Given the description of an element on the screen output the (x, y) to click on. 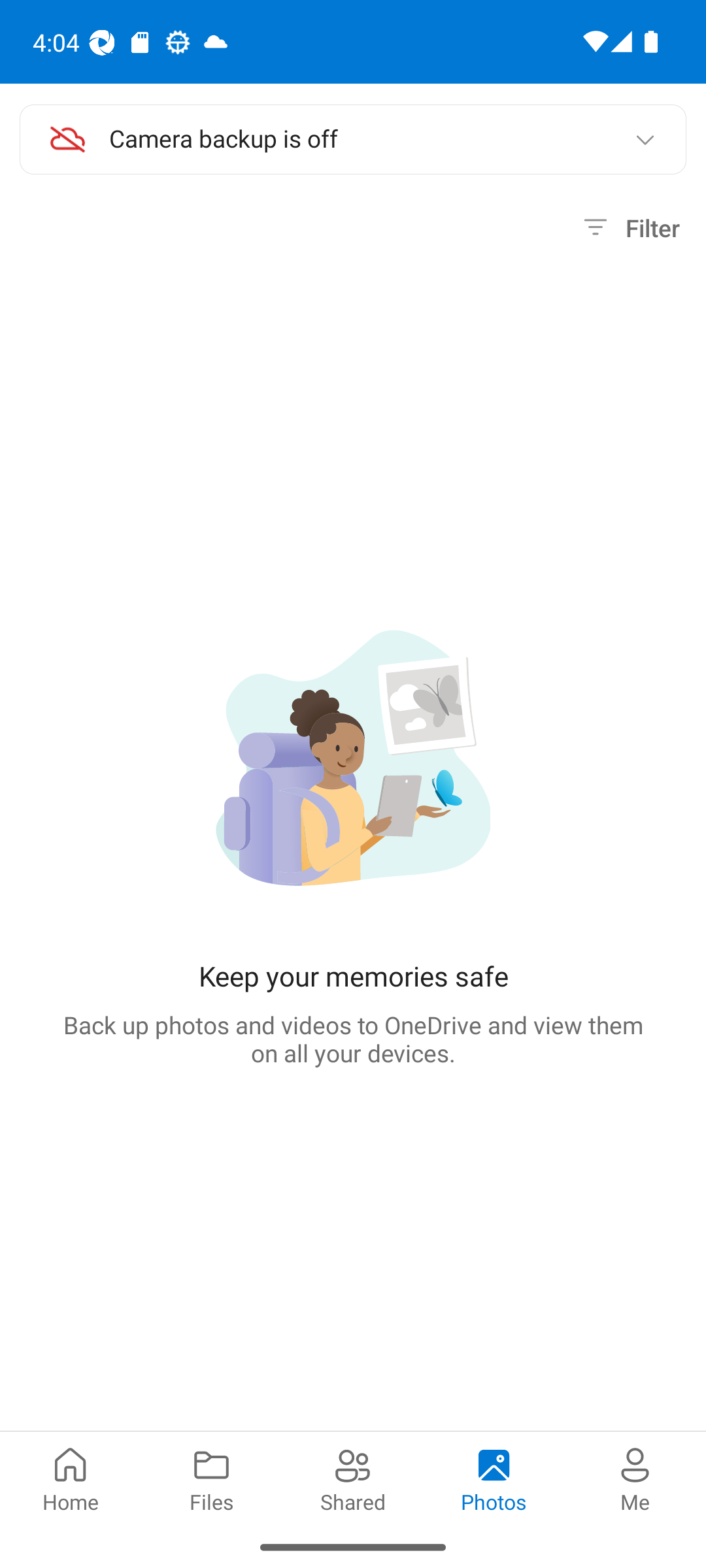
Expand camera status banner (645, 139)
Filter (628, 227)
Home pivot Home (70, 1478)
Files pivot Files (211, 1478)
Shared pivot Shared (352, 1478)
Me pivot Me (635, 1478)
